Given the description of an element on the screen output the (x, y) to click on. 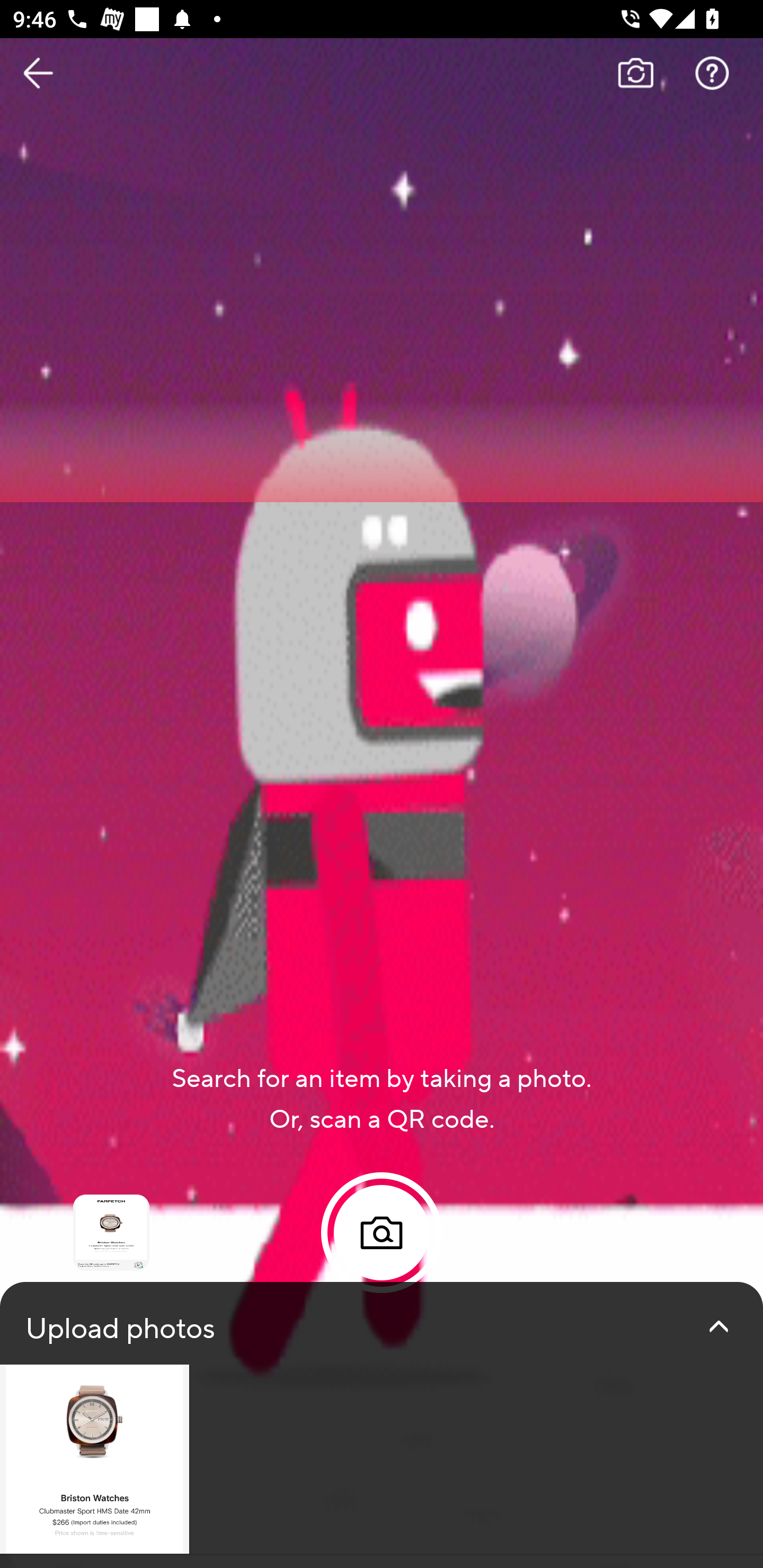
Upload photos  (381, 1425)
 (718, 1326)
